Given the description of an element on the screen output the (x, y) to click on. 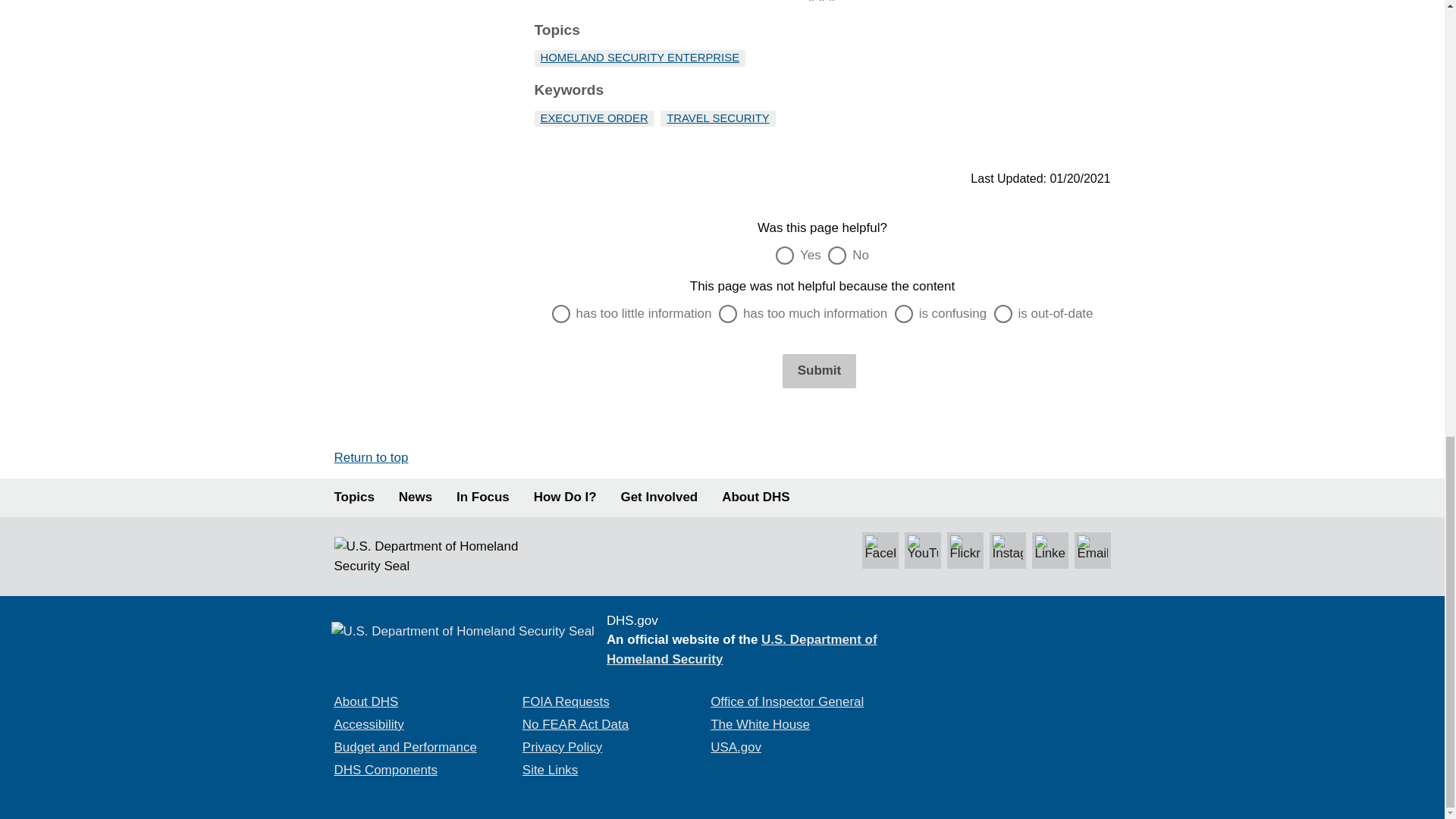
Office of the Inspector General (786, 701)
USA.gov (735, 747)
Submit (819, 370)
Submit (819, 370)
Get Involved (659, 497)
National Terrorism Advisory System (1018, 678)
DHS Components (385, 769)
The White House (759, 724)
Topics (353, 497)
